Given the description of an element on the screen output the (x, y) to click on. 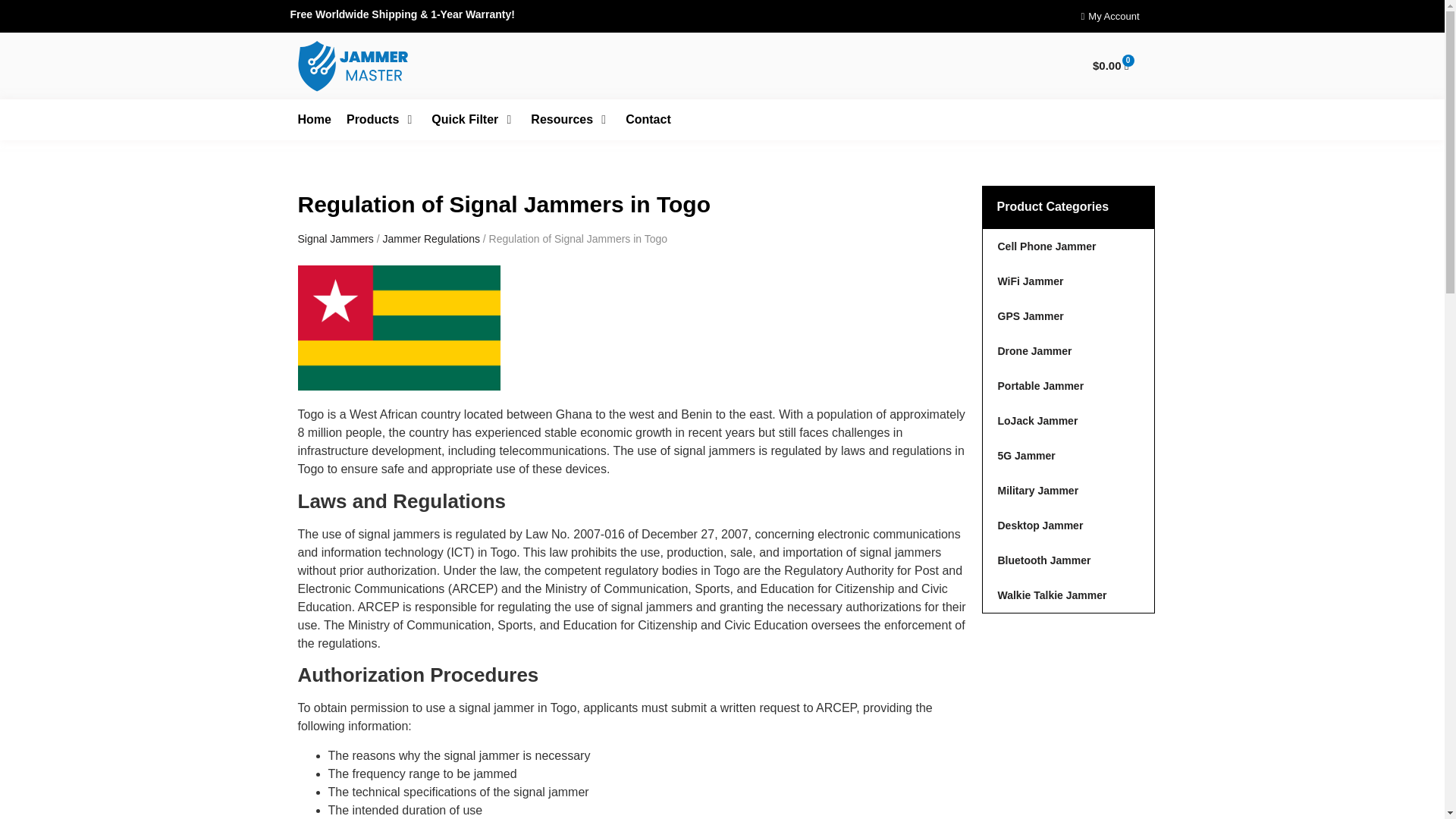
My Account (1109, 16)
Products (372, 119)
Resources (561, 119)
Home (313, 119)
Quick Filter (463, 119)
